Given the description of an element on the screen output the (x, y) to click on. 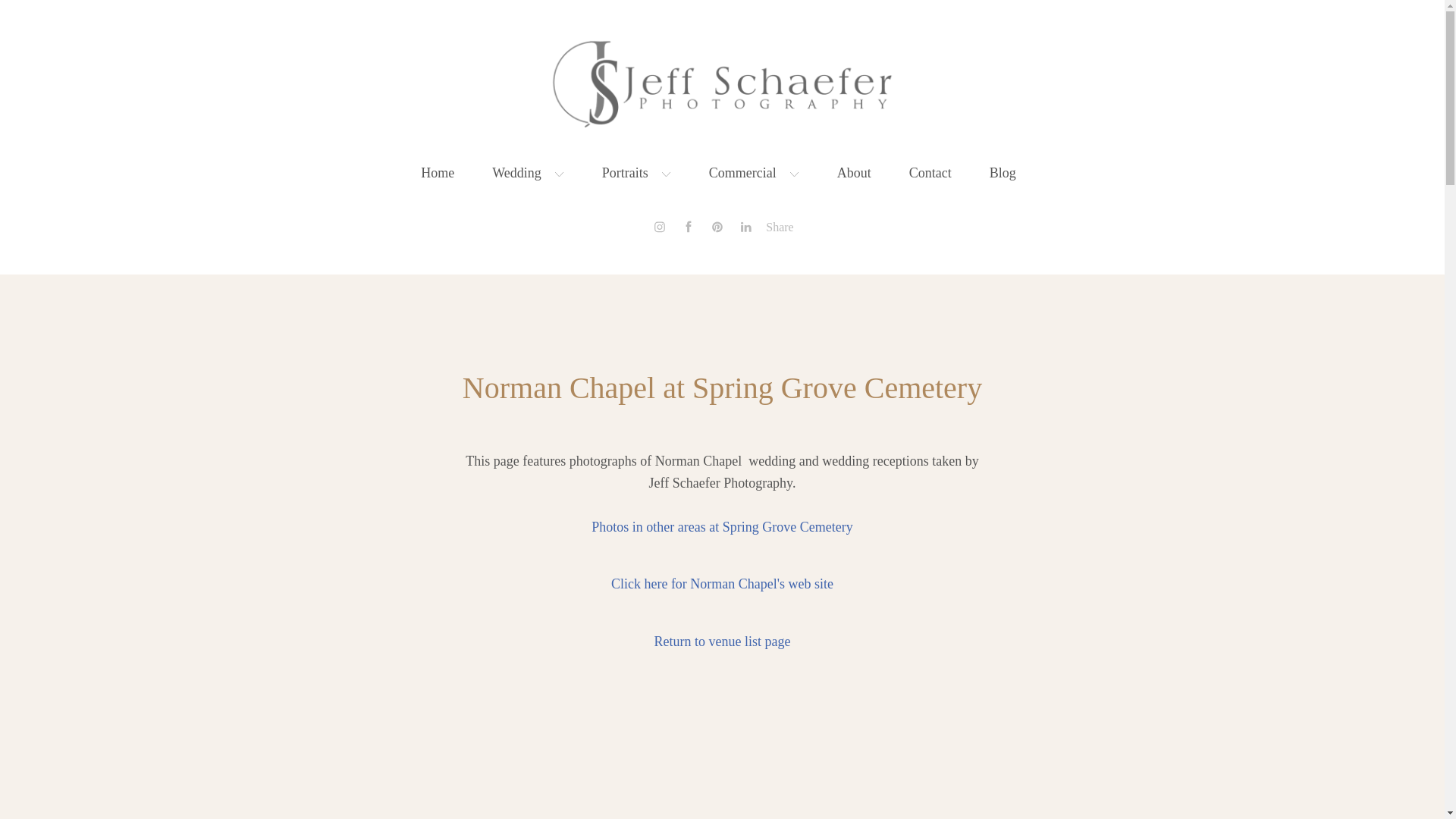
Home (437, 172)
Portraits (636, 172)
Contact (930, 172)
About (853, 172)
Wedding (528, 172)
Commercial (754, 172)
Blog (1003, 172)
